Given the description of an element on the screen output the (x, y) to click on. 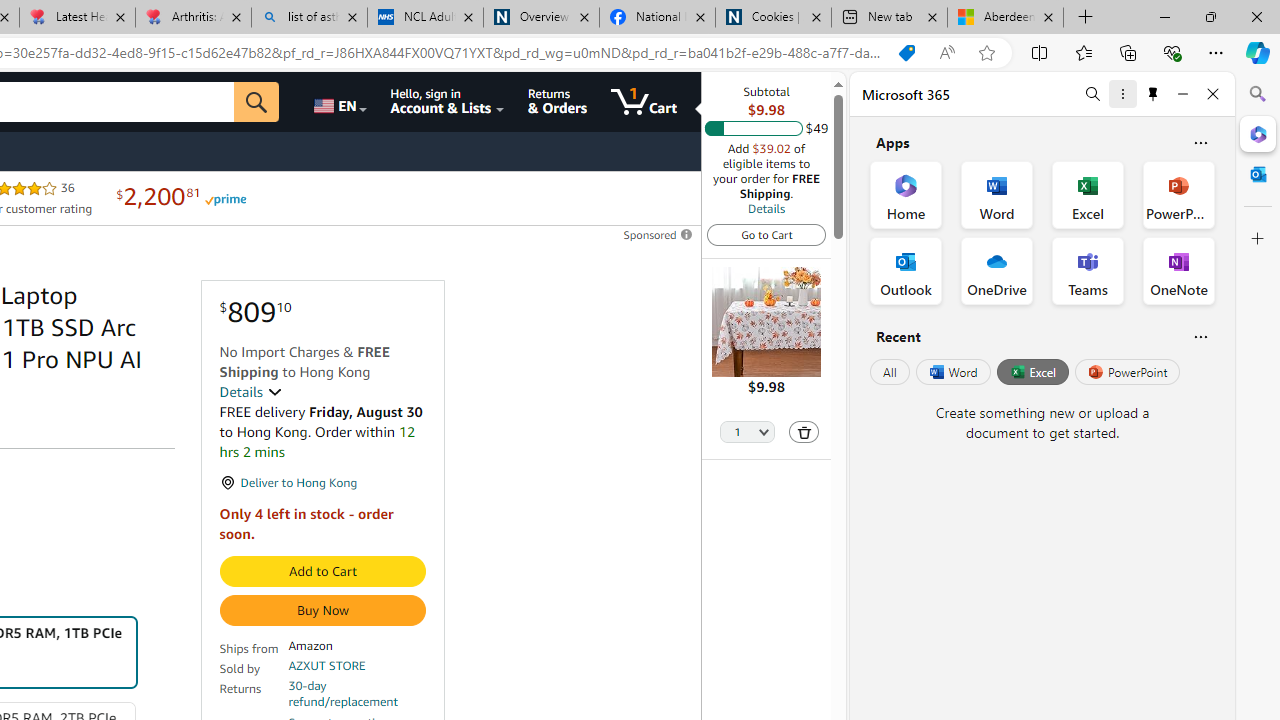
PowerPoint (1127, 372)
Go (257, 101)
Word Office App (996, 194)
Add to Cart (322, 571)
Outlook Office App (906, 270)
Quantity Selector (747, 433)
Excel Office App (1087, 194)
